Given the description of an element on the screen output the (x, y) to click on. 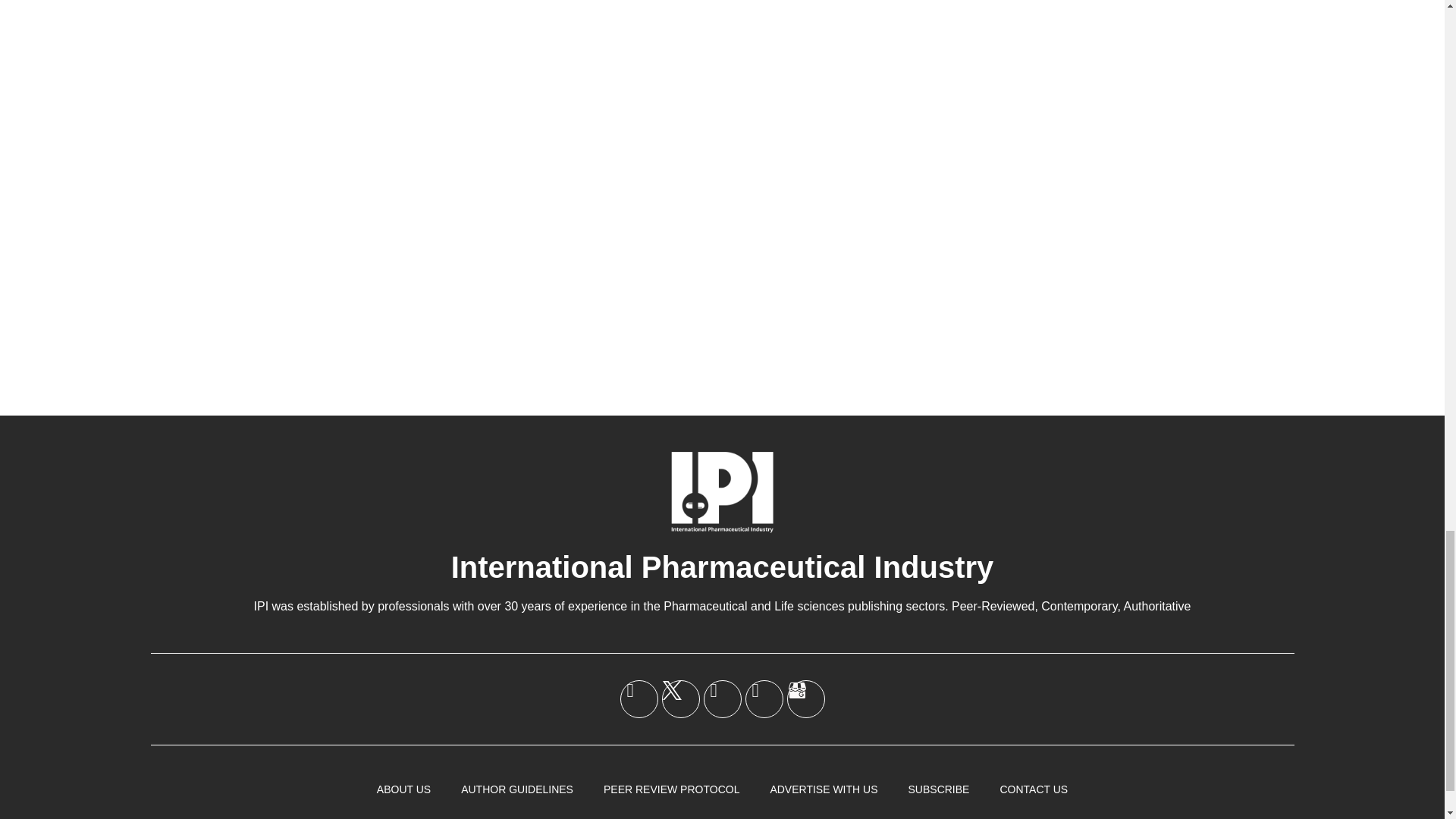
logo-ipi-w.png (721, 491)
